Given the description of an element on the screen output the (x, y) to click on. 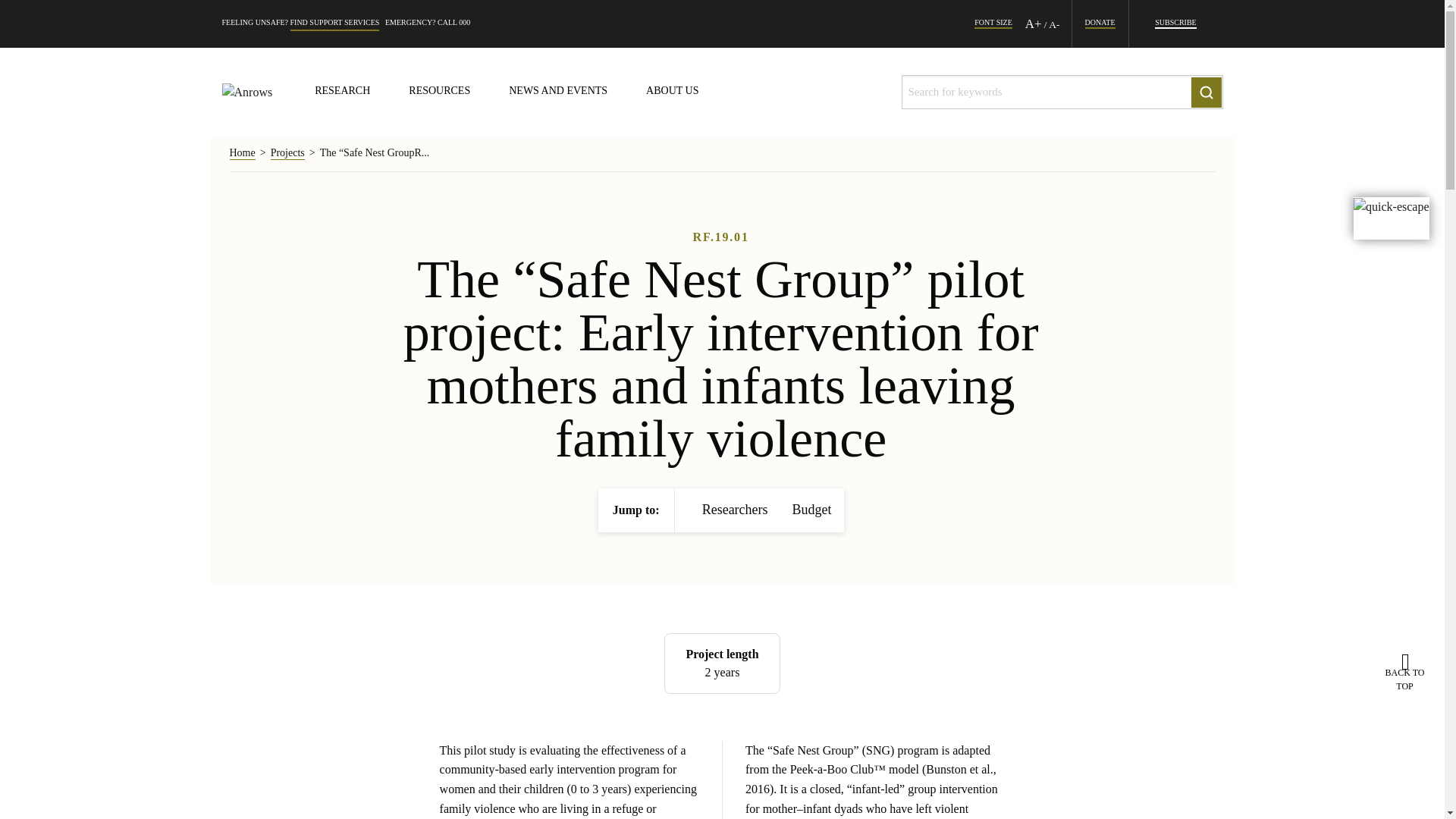
RESEARCH (341, 91)
FIND SUPPORT SERVICES (333, 23)
FONT SIZE (992, 23)
NEWS AND EVENTS (557, 91)
SUBSCRIBE (1175, 23)
mgmAbout (672, 91)
mgmResources (439, 91)
mgmResearch (341, 91)
RESOURCES (439, 91)
mgmEvents (557, 91)
